Given the description of an element on the screen output the (x, y) to click on. 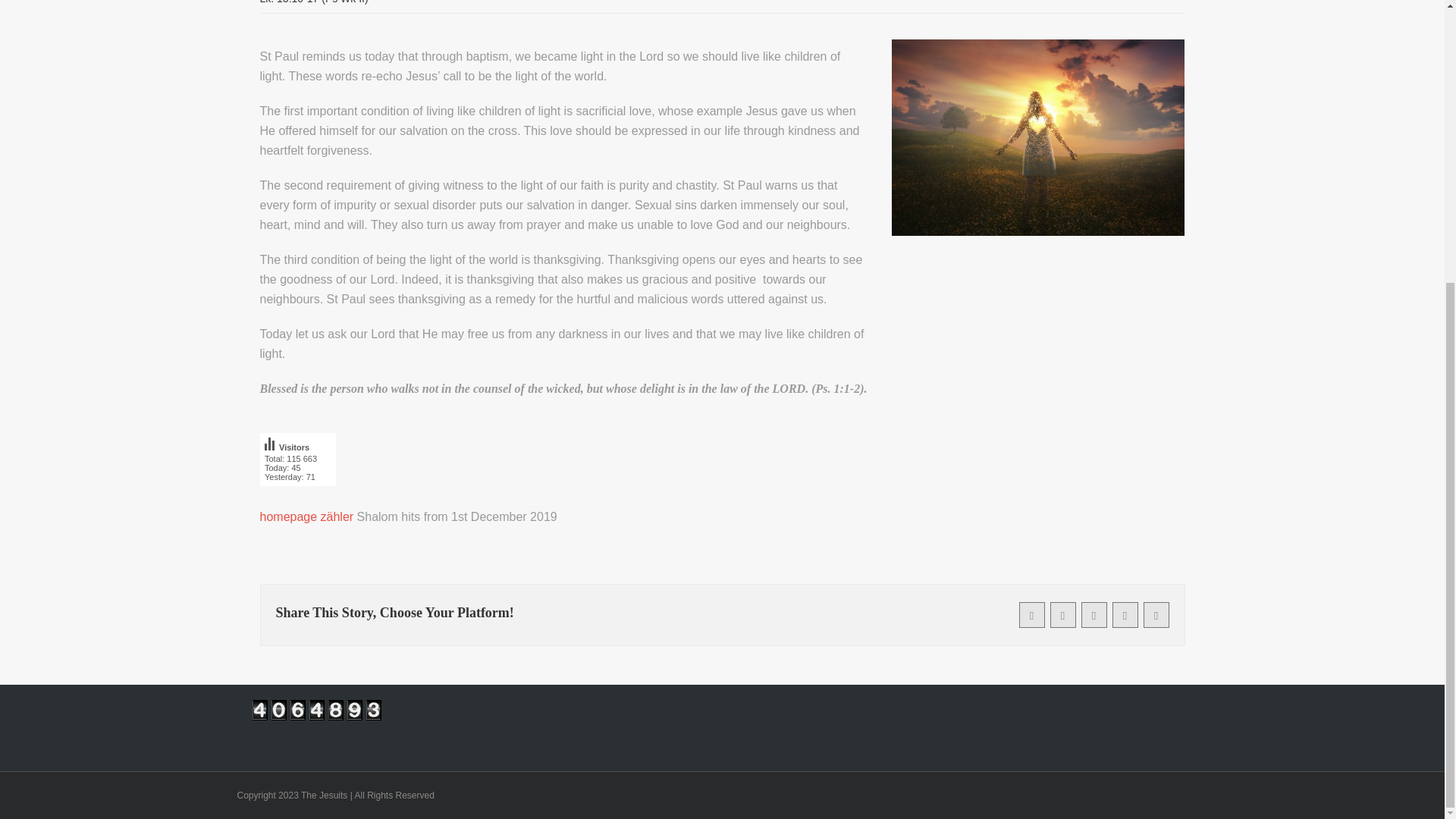
spirit-light-love (296, 467)
